Given the description of an element on the screen output the (x, y) to click on. 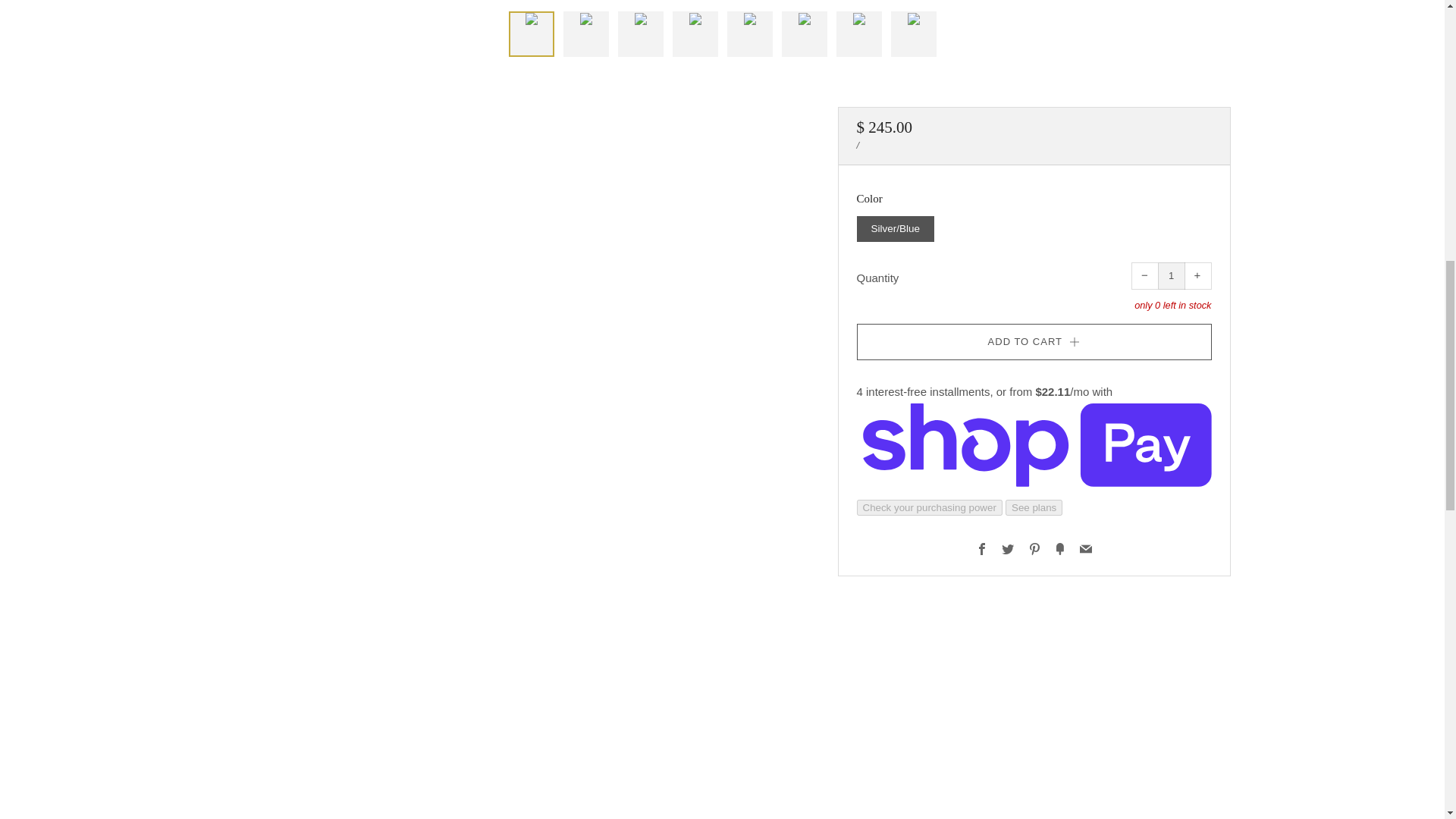
1 (1171, 275)
